Given the description of an element on the screen output the (x, y) to click on. 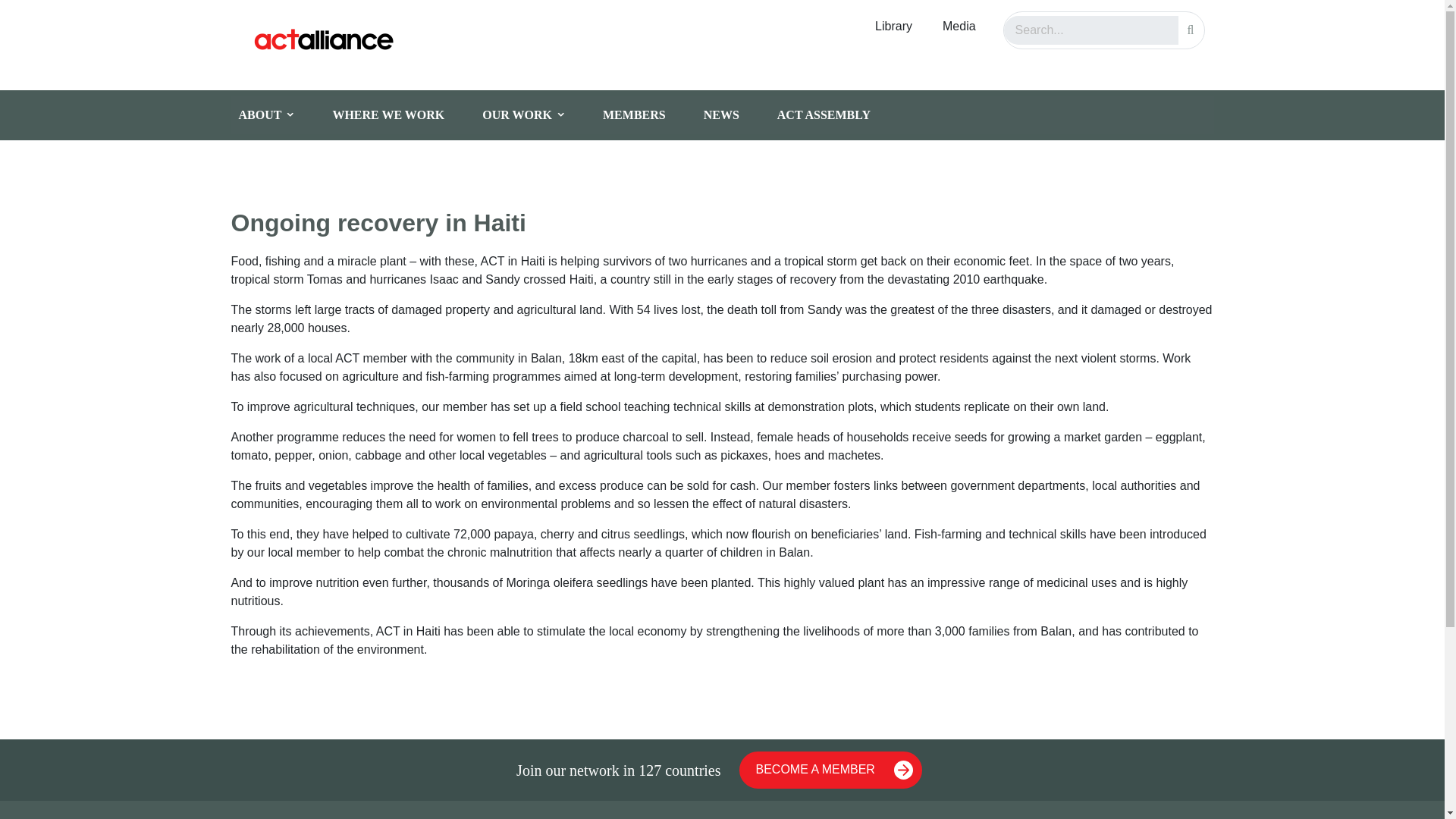
NEWS (732, 115)
BECOME A MEMBER (830, 769)
OUR WORK (534, 115)
Media (959, 26)
Library (893, 26)
ACT ASSEMBLY (835, 115)
WHERE WE WORK (399, 115)
ABOUT (277, 115)
MEMBERS (645, 115)
